Given the description of an element on the screen output the (x, y) to click on. 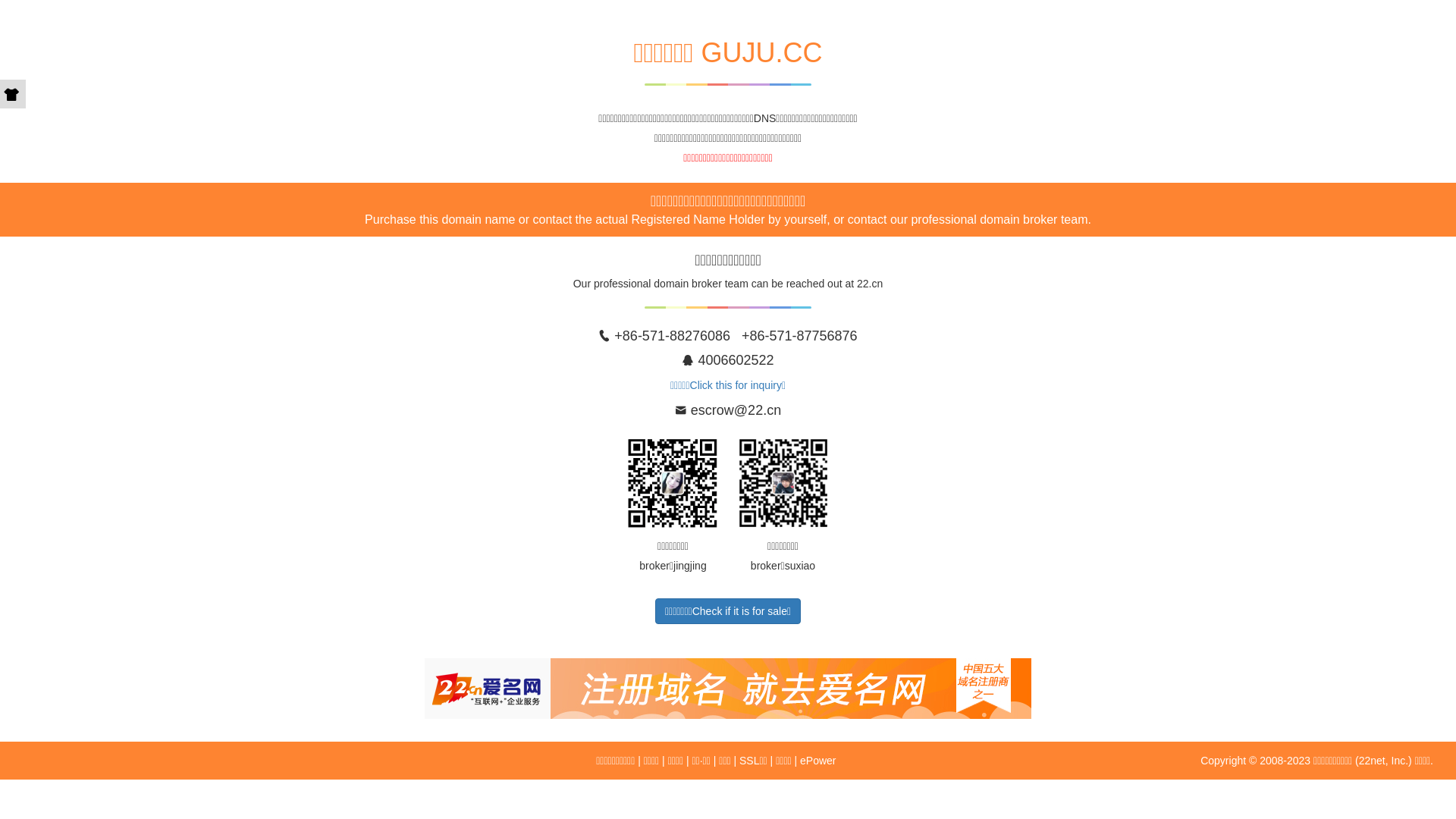
ePower Element type: text (817, 760)
